Given the description of an element on the screen output the (x, y) to click on. 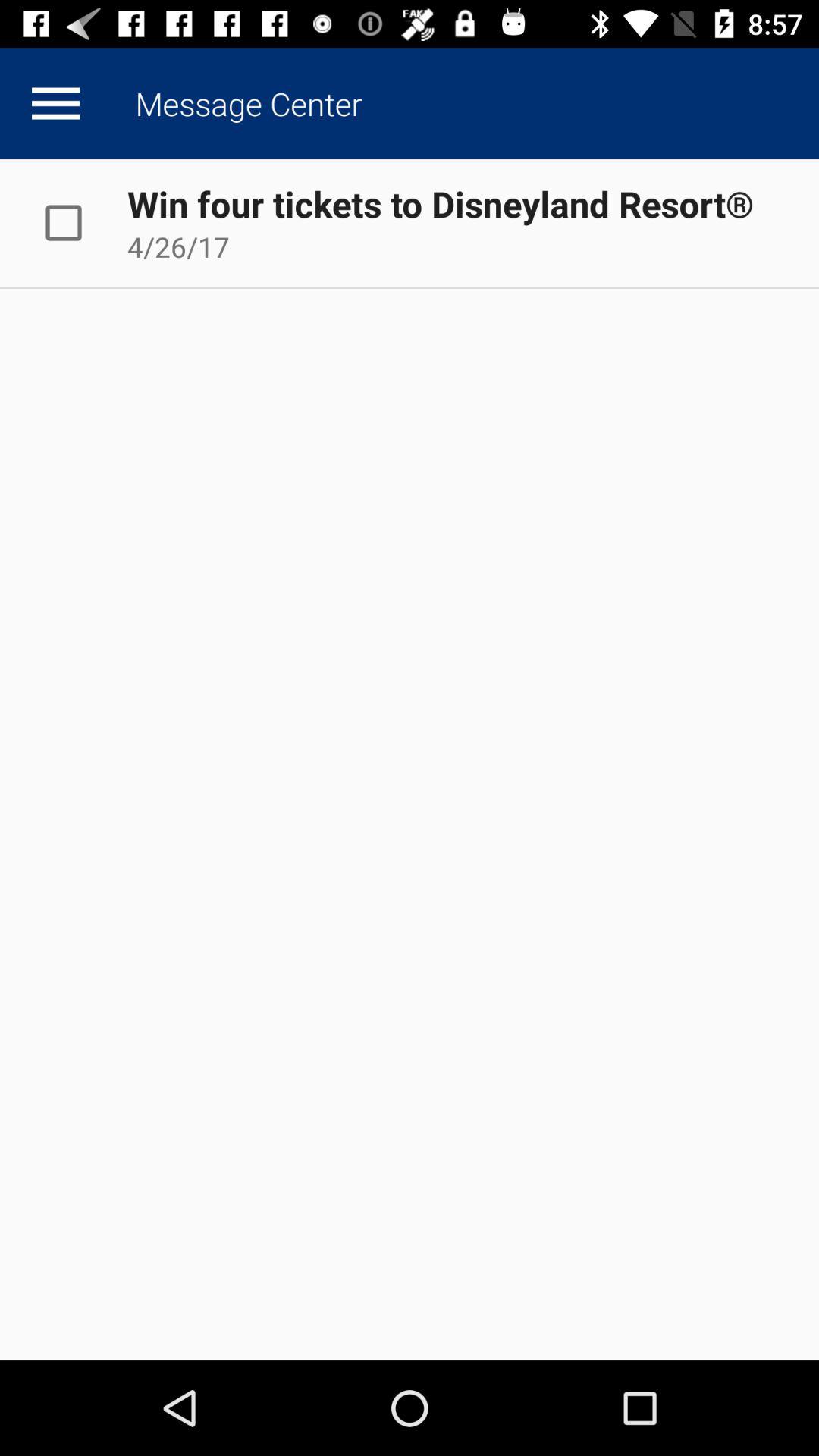
select option (79, 222)
